Given the description of an element on the screen output the (x, y) to click on. 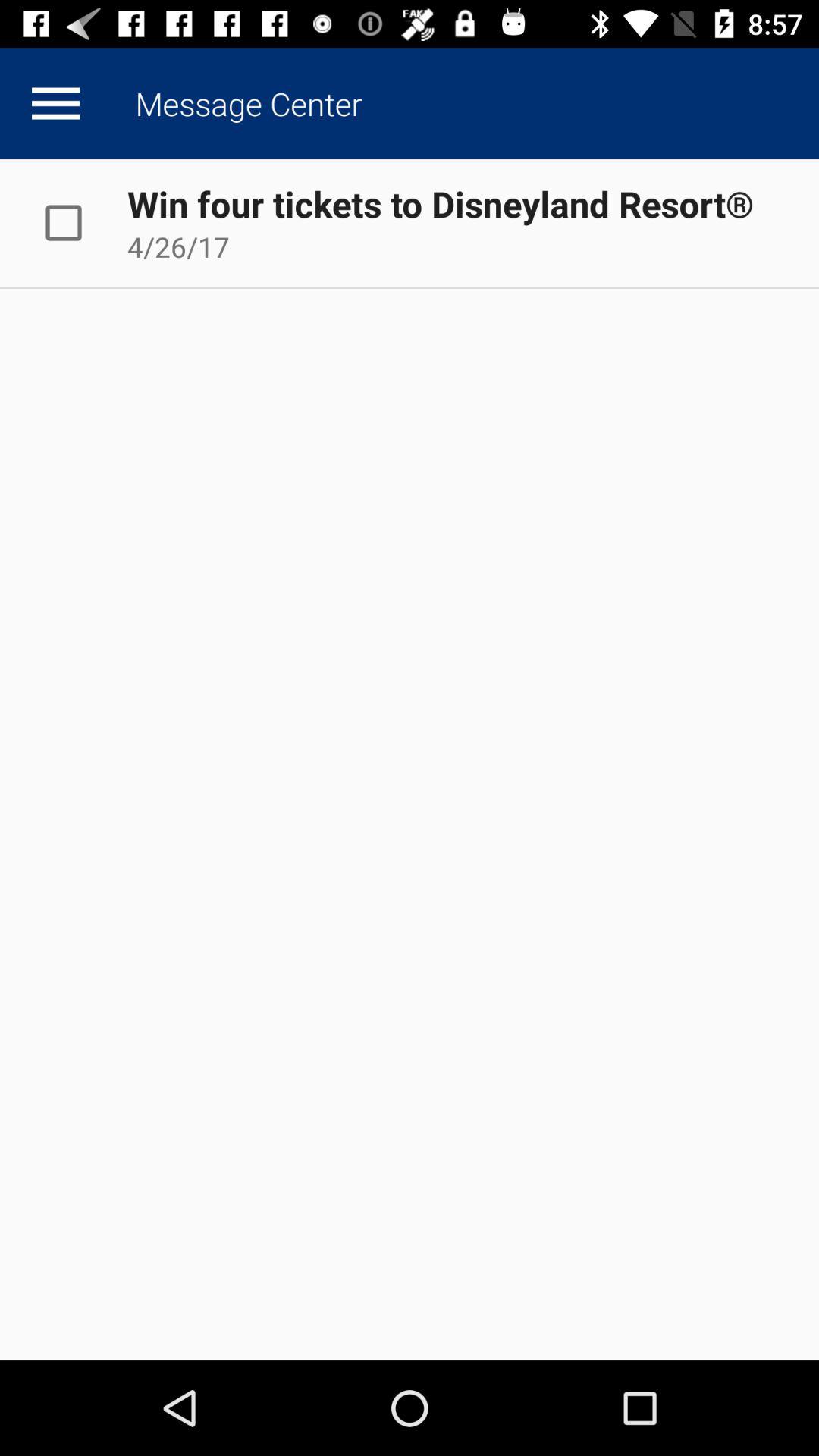
select option (79, 222)
